Given the description of an element on the screen output the (x, y) to click on. 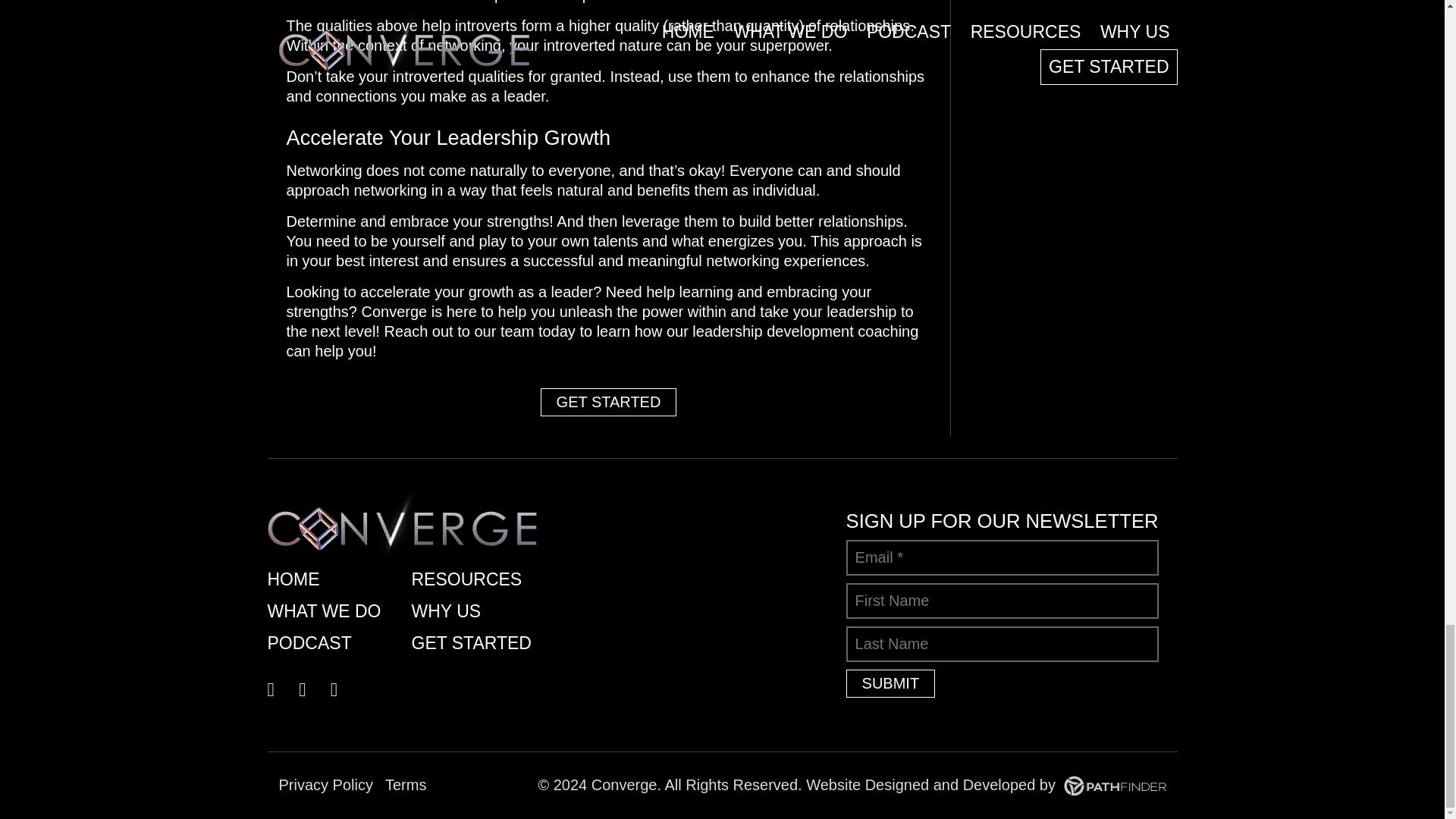
Submit (890, 683)
GET STARTED (475, 644)
RESOURCES (475, 580)
GET STARTED (608, 402)
PODCAST (331, 644)
WHY US (475, 612)
WHAT WE DO (331, 612)
HOME (331, 580)
